Given the description of an element on the screen output the (x, y) to click on. 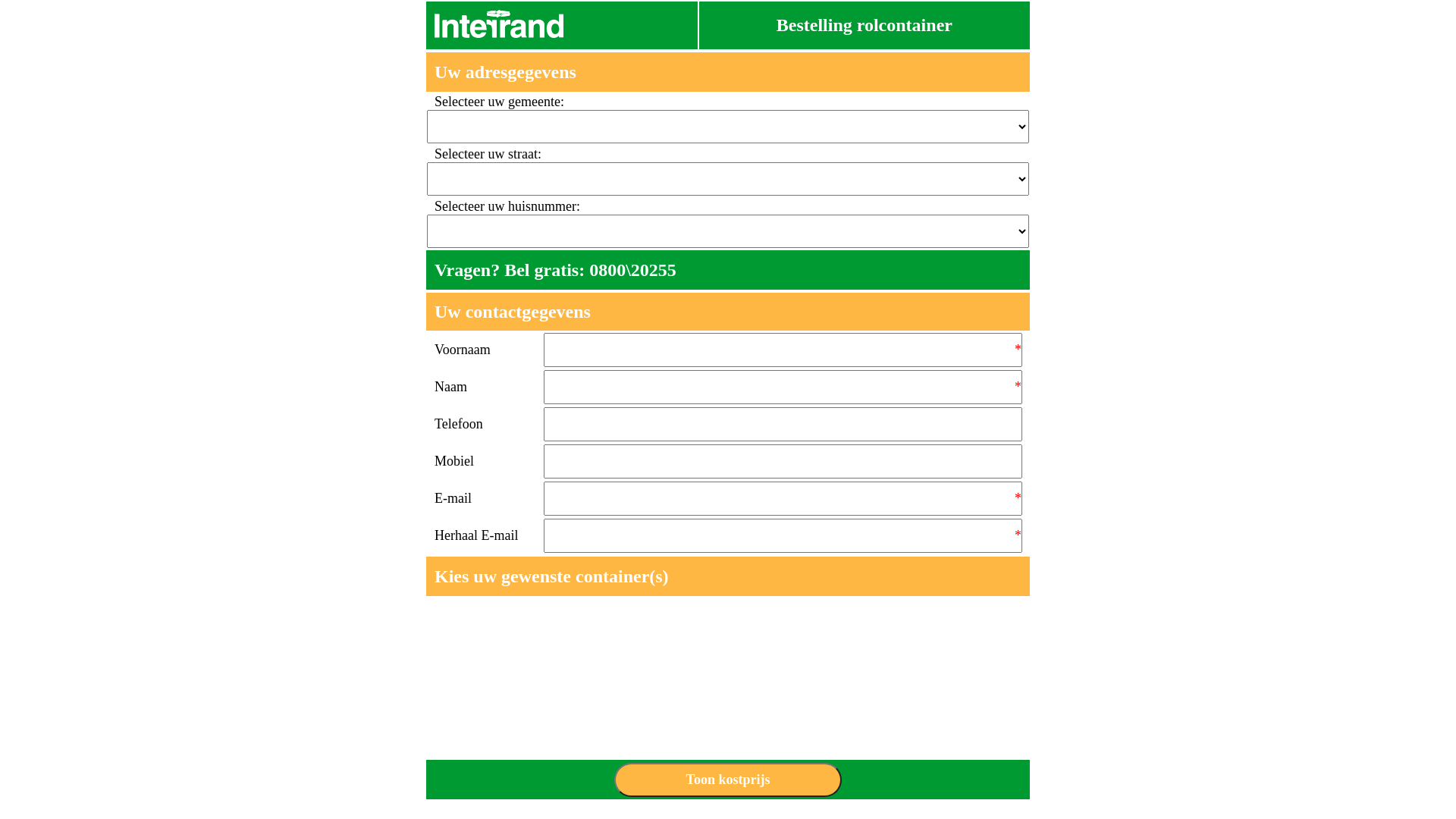
Toon kostprijs Element type: text (727, 779)
